Given the description of an element on the screen output the (x, y) to click on. 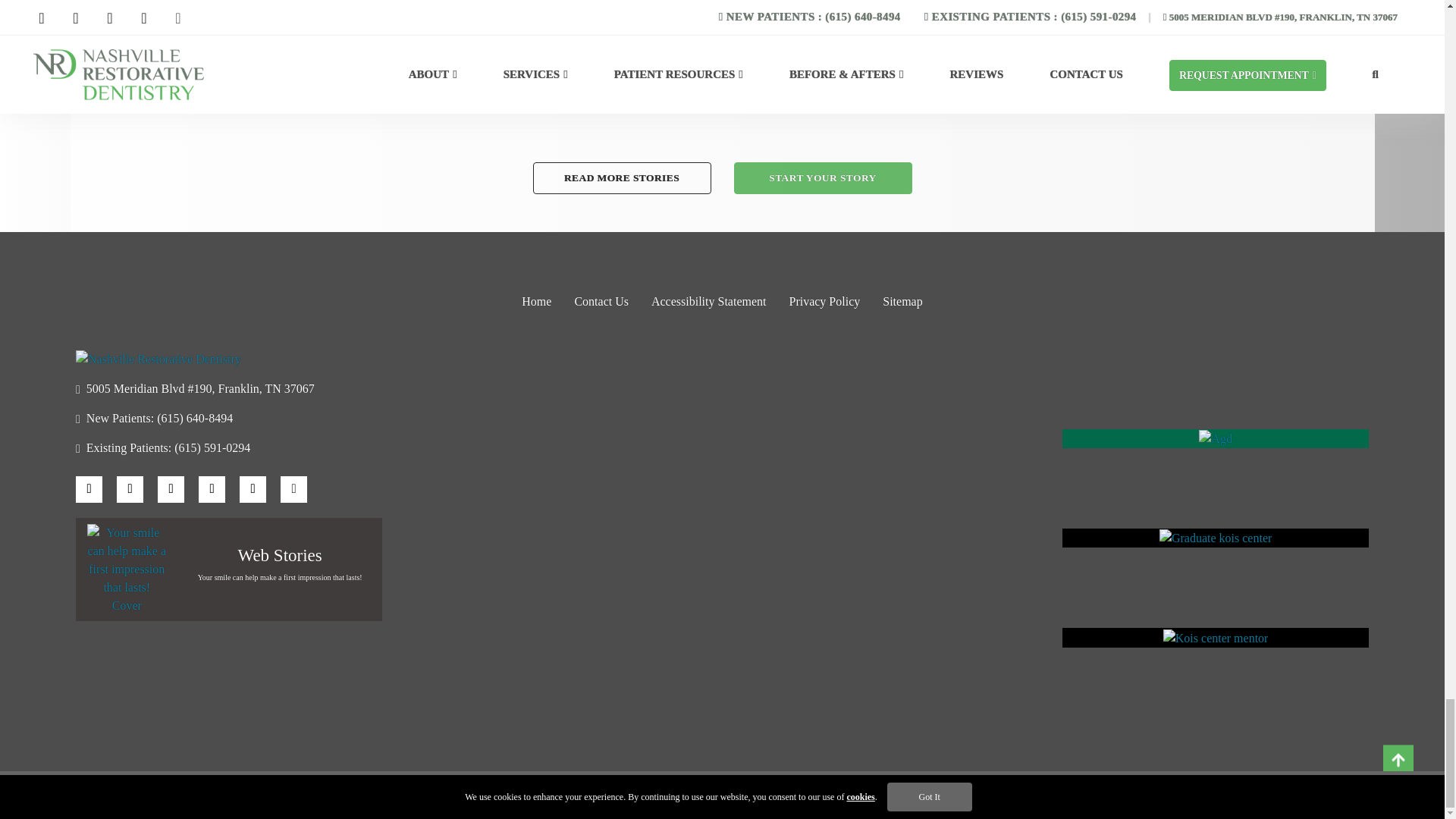
Opens in New Window (228, 389)
